Given the description of an element on the screen output the (x, y) to click on. 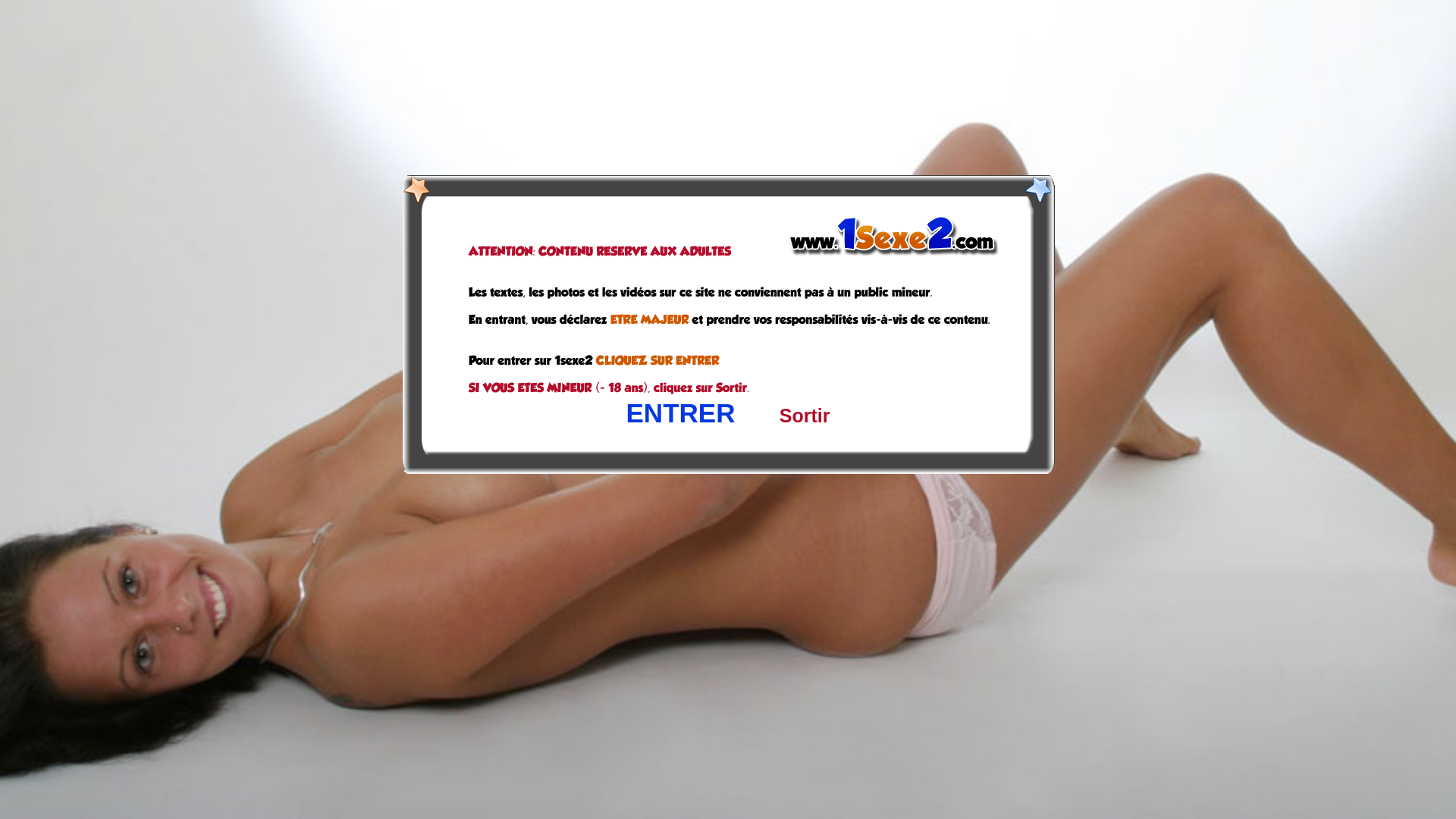
Ok Element type: text (1406, 794)
Login Element type: text (1117, 22)
Webcams Element type: text (793, 70)
Accueil Element type: hover (328, 77)
1sexe2.com Element type: hover (418, 22)
Vos Annonces Element type: text (552, 70)
Sites de Cul Element type: text (911, 70)
Nous Contacter Element type: text (892, 606)
Vos Photos Element type: text (424, 70)
Sortir Element type: text (804, 415)
FAQ Element type: text (836, 606)
Accueil Element type: hover (328, 72)
ENTRER Element type: text (680, 412)
Contact Element type: text (637, 252)
Conditions d'utilisation du site Element type: text (595, 606)
Recherche Element type: text (679, 70)
